Given the description of an element on the screen output the (x, y) to click on. 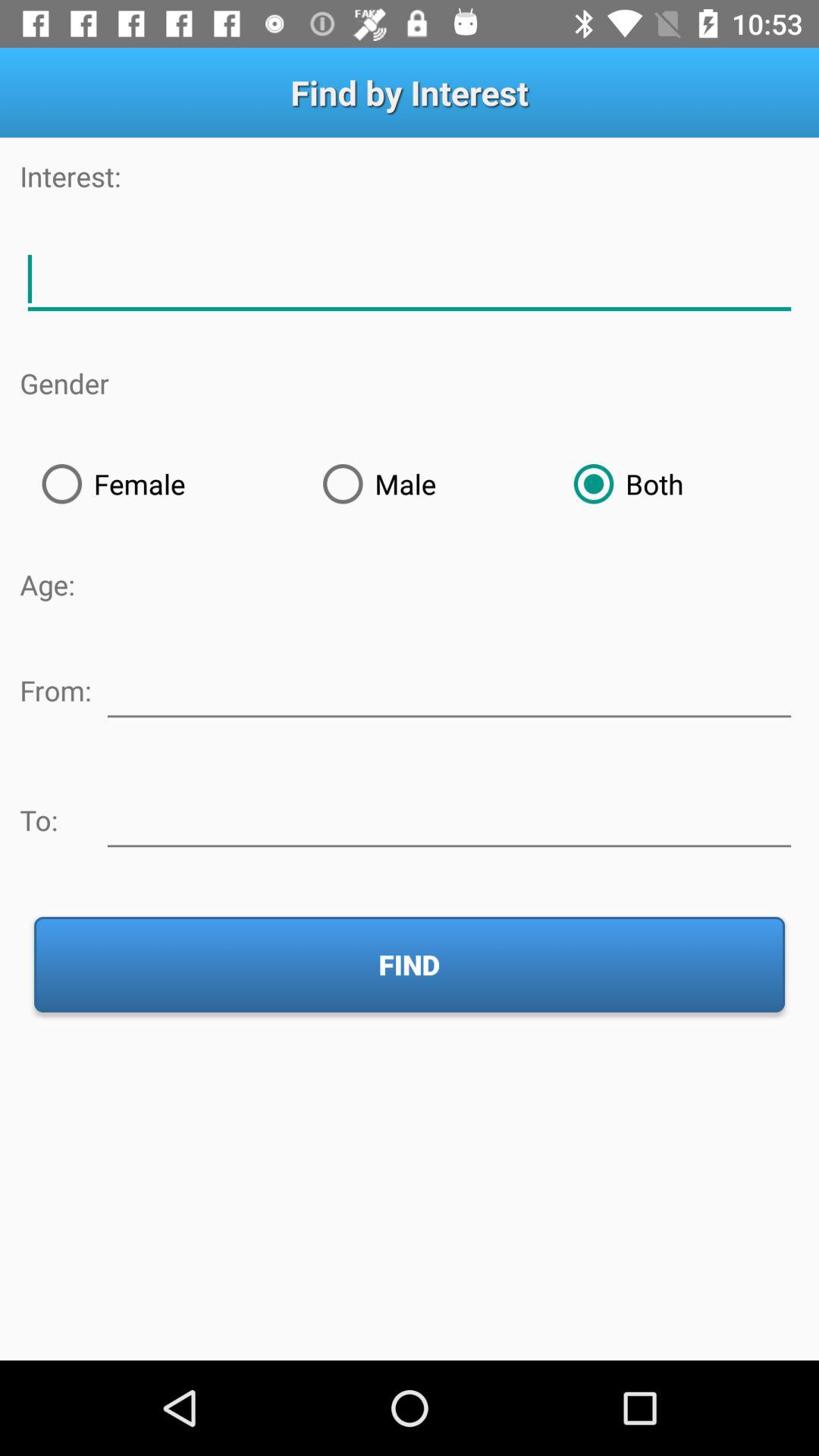
select the radio button to the left of both (426, 483)
